Given the description of an element on the screen output the (x, y) to click on. 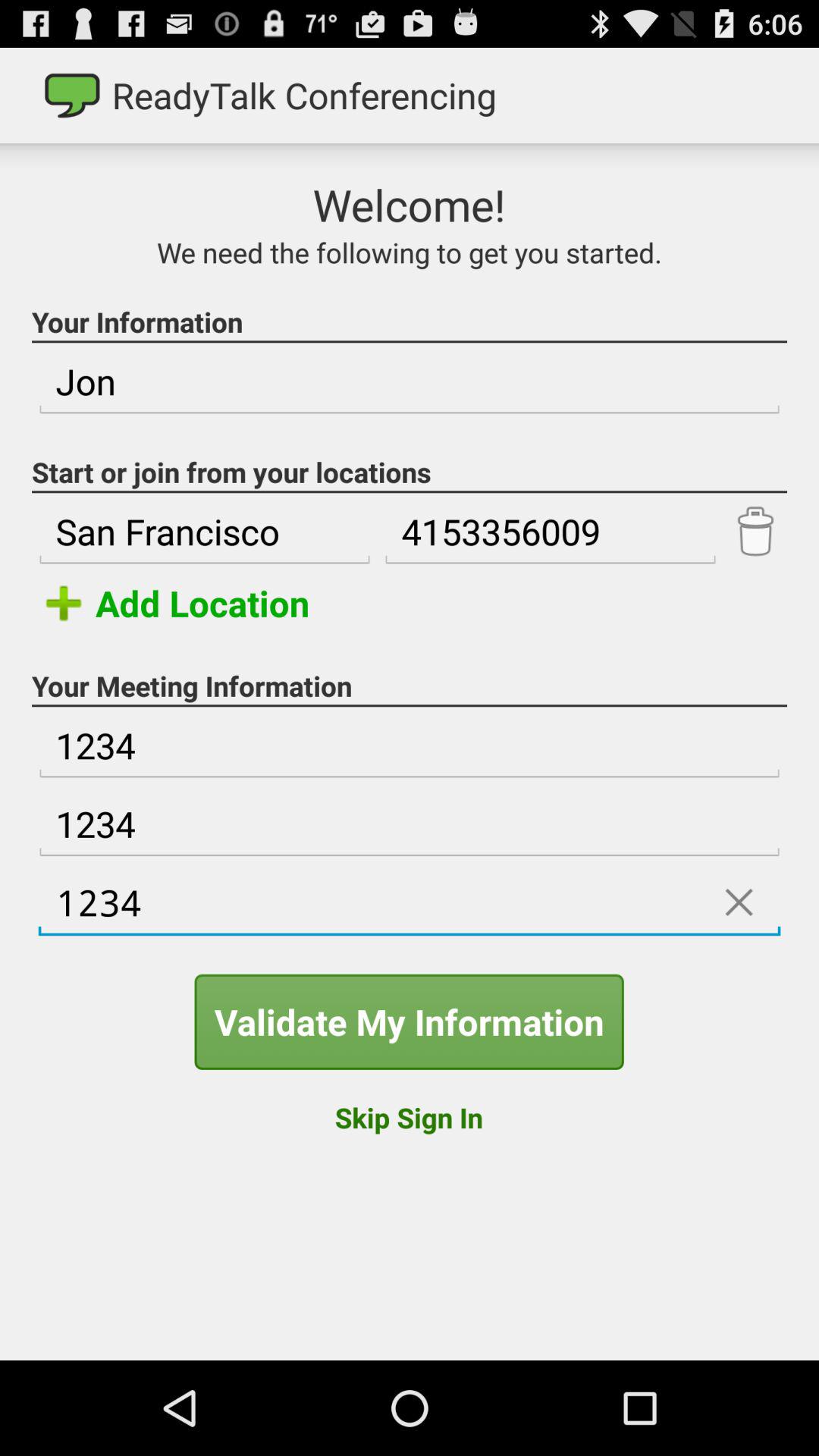
choose item to the right of the 4153356009 icon (755, 532)
